Given the description of an element on the screen output the (x, y) to click on. 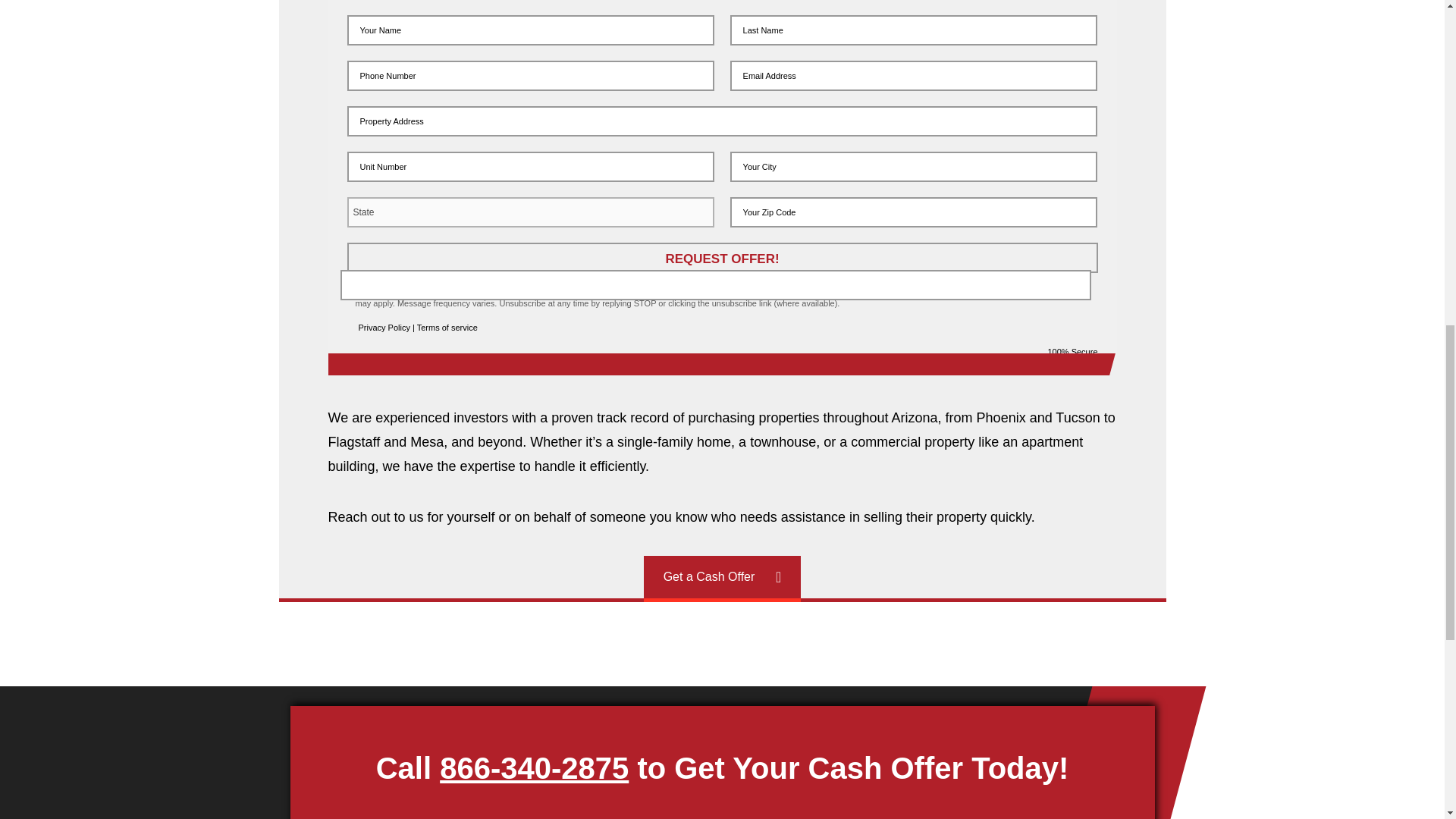
Get a Cash Offer (722, 577)
REQUEST OFFER! (722, 257)
Get a Cash Offer (722, 577)
866-340-2875 (533, 767)
Privacy Policy (383, 327)
REQUEST OFFER! (722, 257)
Terms of service (446, 327)
